Given the description of an element on the screen output the (x, y) to click on. 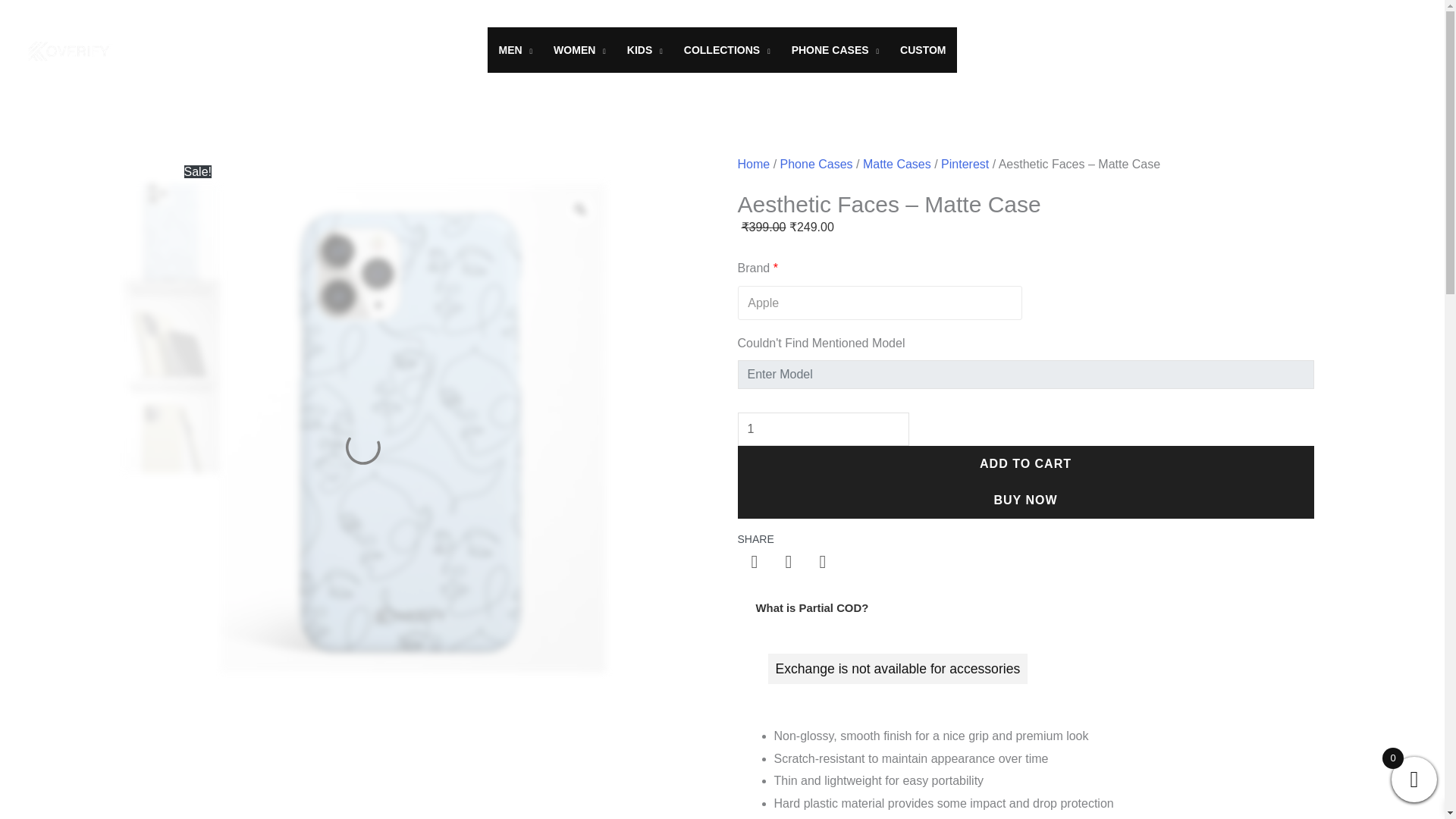
Matte Cases-15 (171, 231)
Koverify banner P1 (171, 327)
KIDS (643, 49)
1 (822, 428)
Koverify banner P2 (171, 423)
MEN (515, 49)
WOMEN (579, 49)
